Given the description of an element on the screen output the (x, y) to click on. 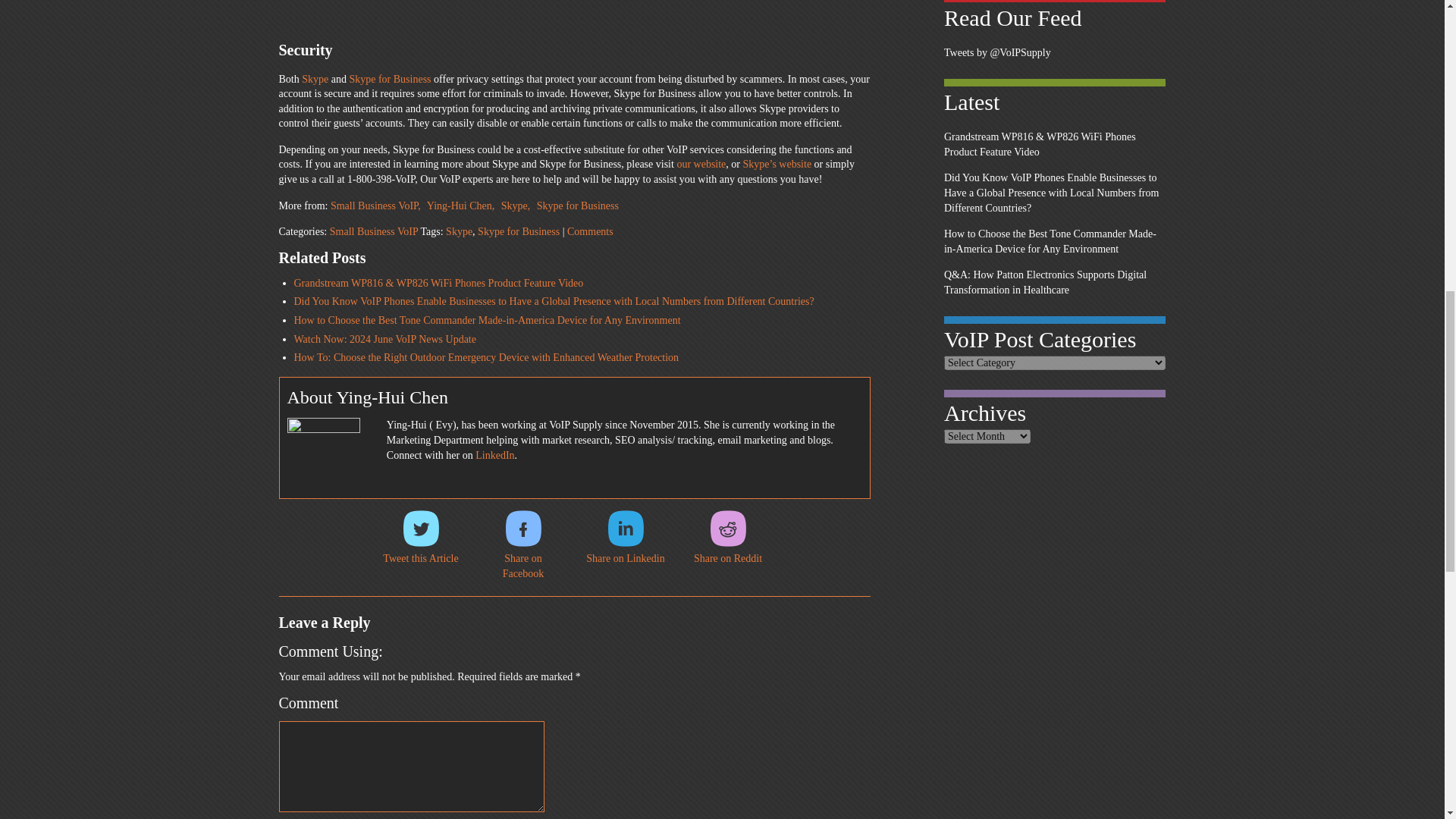
See more posts from this author (461, 205)
Ying-Hui Chen (461, 205)
Small Business VoIP (377, 205)
Skype (517, 205)
See more posts from this category (377, 205)
our website (701, 163)
Watch Now: 2024 June VoIP News Update (385, 338)
Skype (315, 79)
Skype for Business (389, 79)
